Given the description of an element on the screen output the (x, y) to click on. 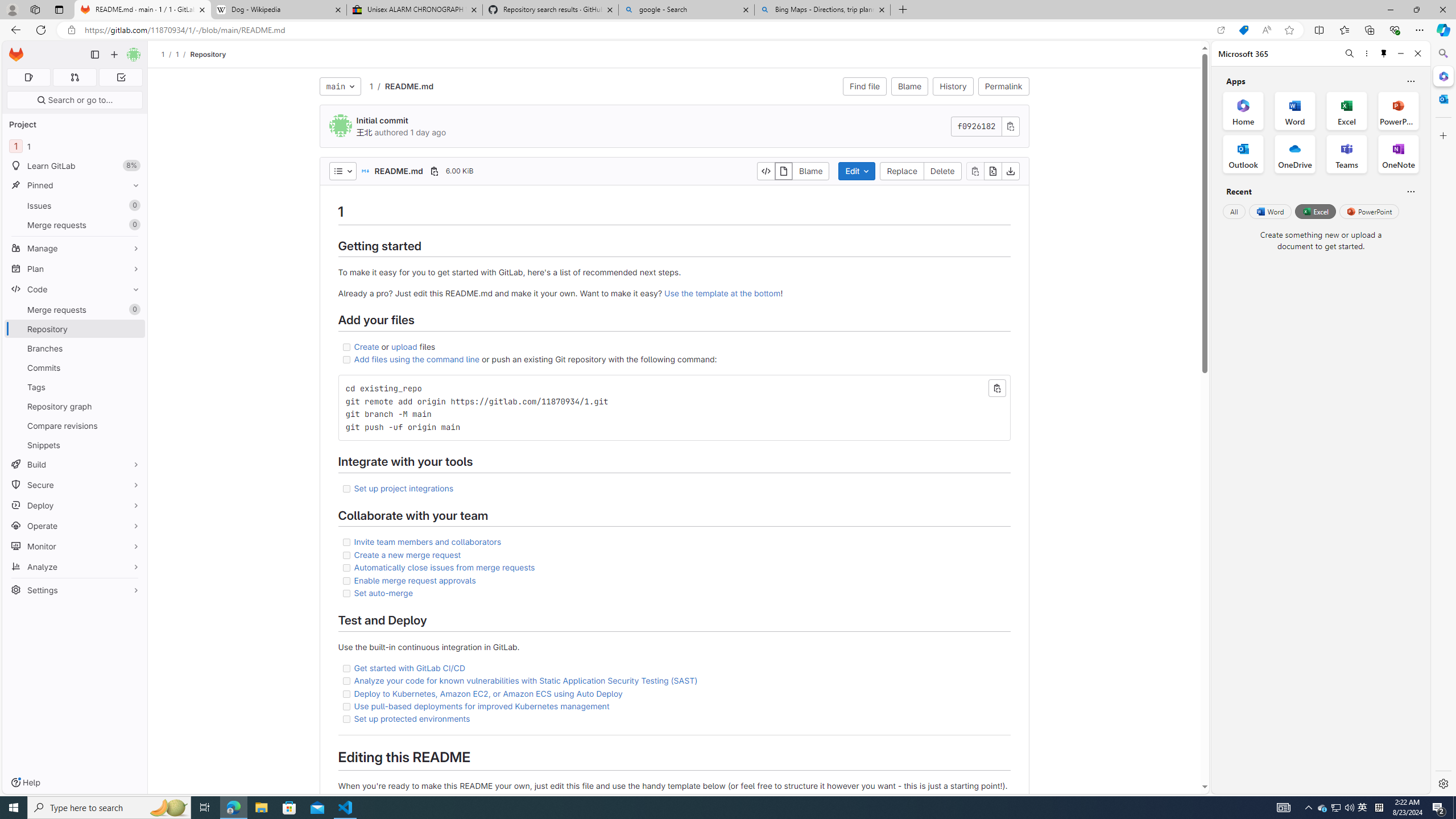
Branches (74, 348)
OneNote Office App (1398, 154)
Set auto-merge (673, 593)
Homepage (16, 54)
Copy commit SHA (1010, 126)
Build (74, 464)
Skip to main content (13, 49)
Pinned (74, 185)
Unpin side pane (1383, 53)
Add files using the command line (416, 359)
Outlook Office App (1243, 154)
Issues 0 (74, 205)
